Given the description of an element on the screen output the (x, y) to click on. 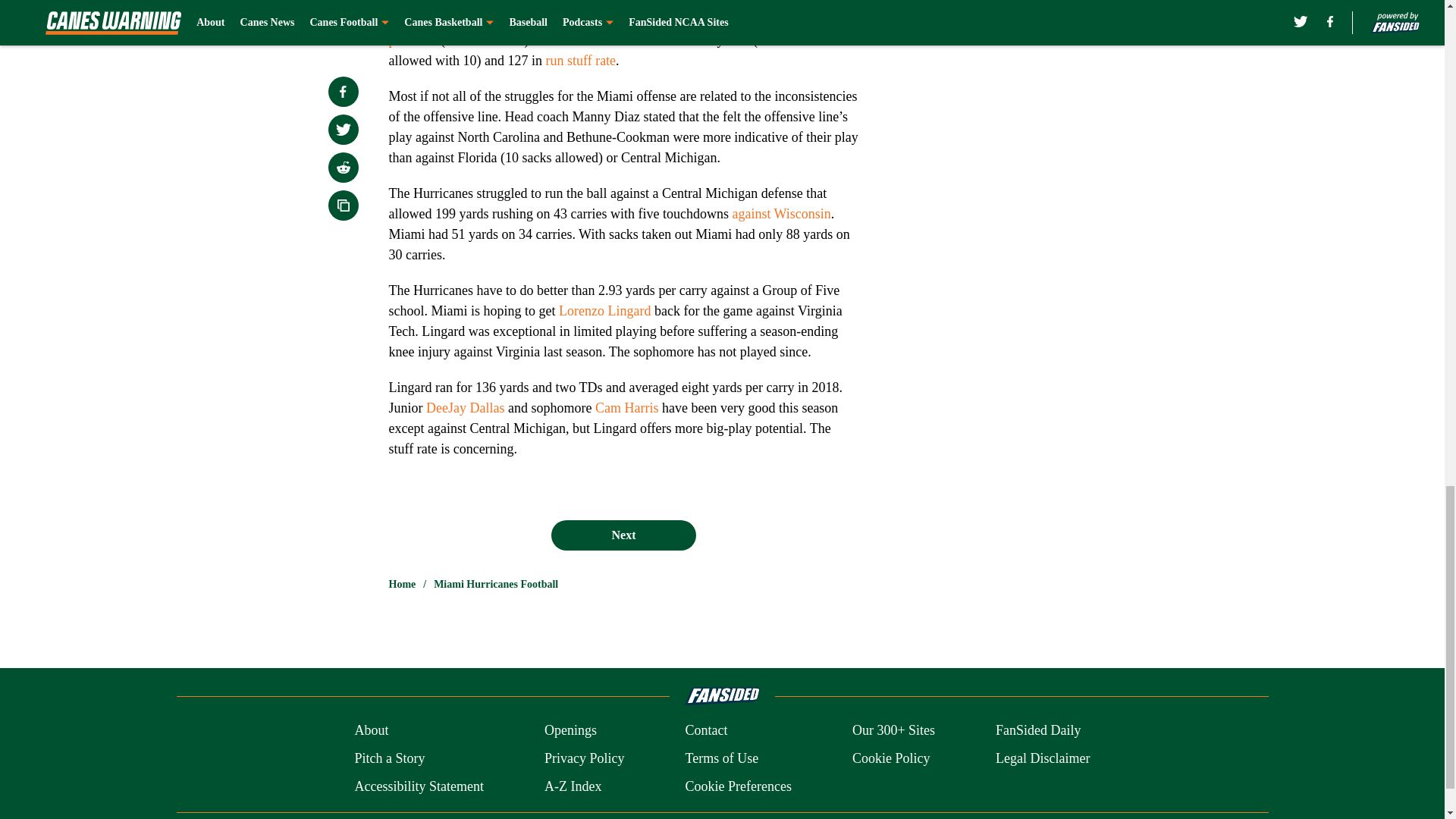
penalties (412, 39)
Lorenzo Lingard (604, 310)
third down (616, 13)
Next (622, 535)
About (370, 730)
against Wisconsin (780, 213)
Home (401, 584)
run stuff rate (579, 60)
Miami Hurricanes Football (495, 584)
Miami football (537, 3)
